Given the description of an element on the screen output the (x, y) to click on. 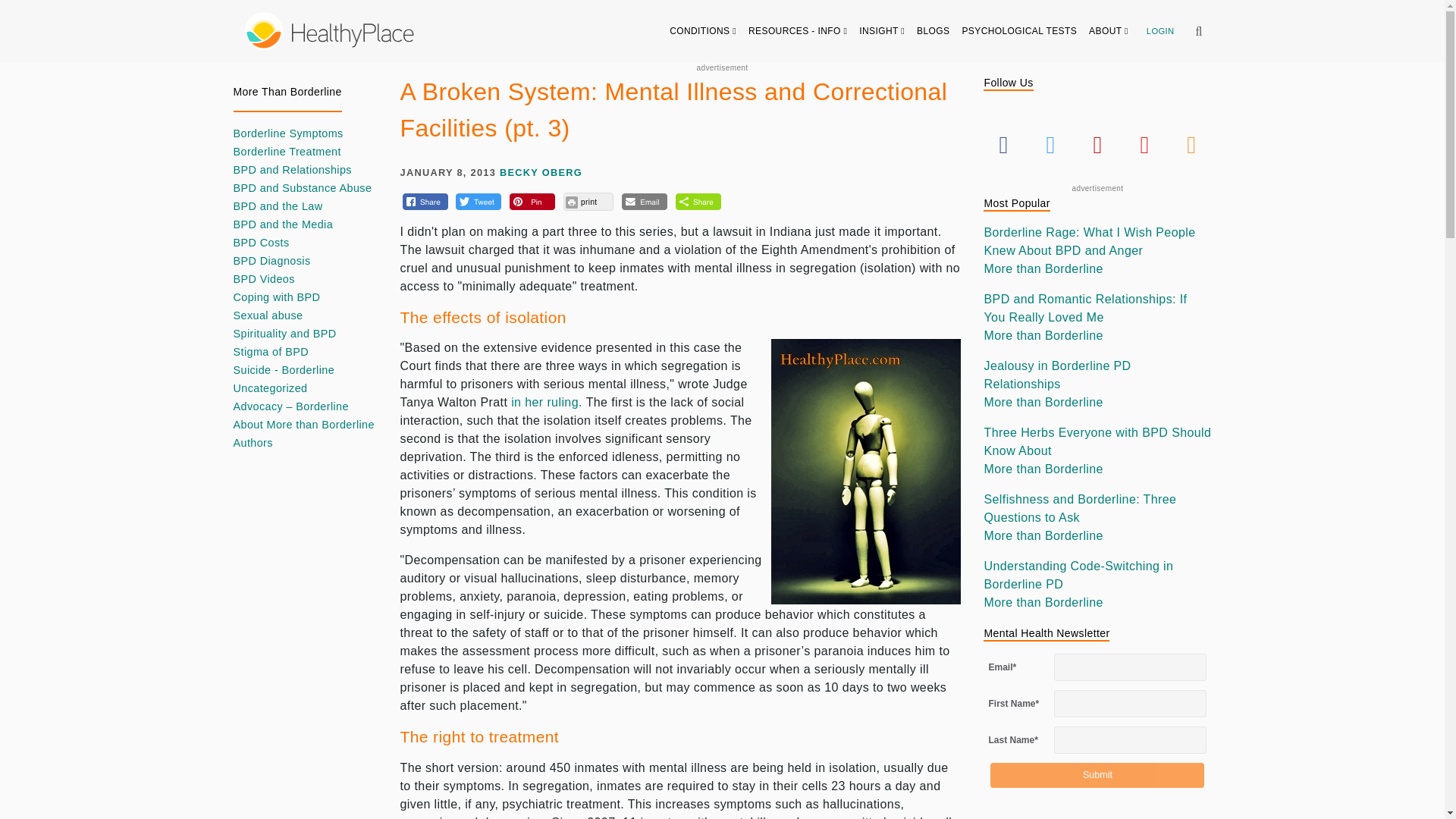
INSIGHT (882, 31)
RESOURCES - INFO (797, 31)
CONDITIONS (702, 31)
Submit (1097, 774)
